Given the description of an element on the screen output the (x, y) to click on. 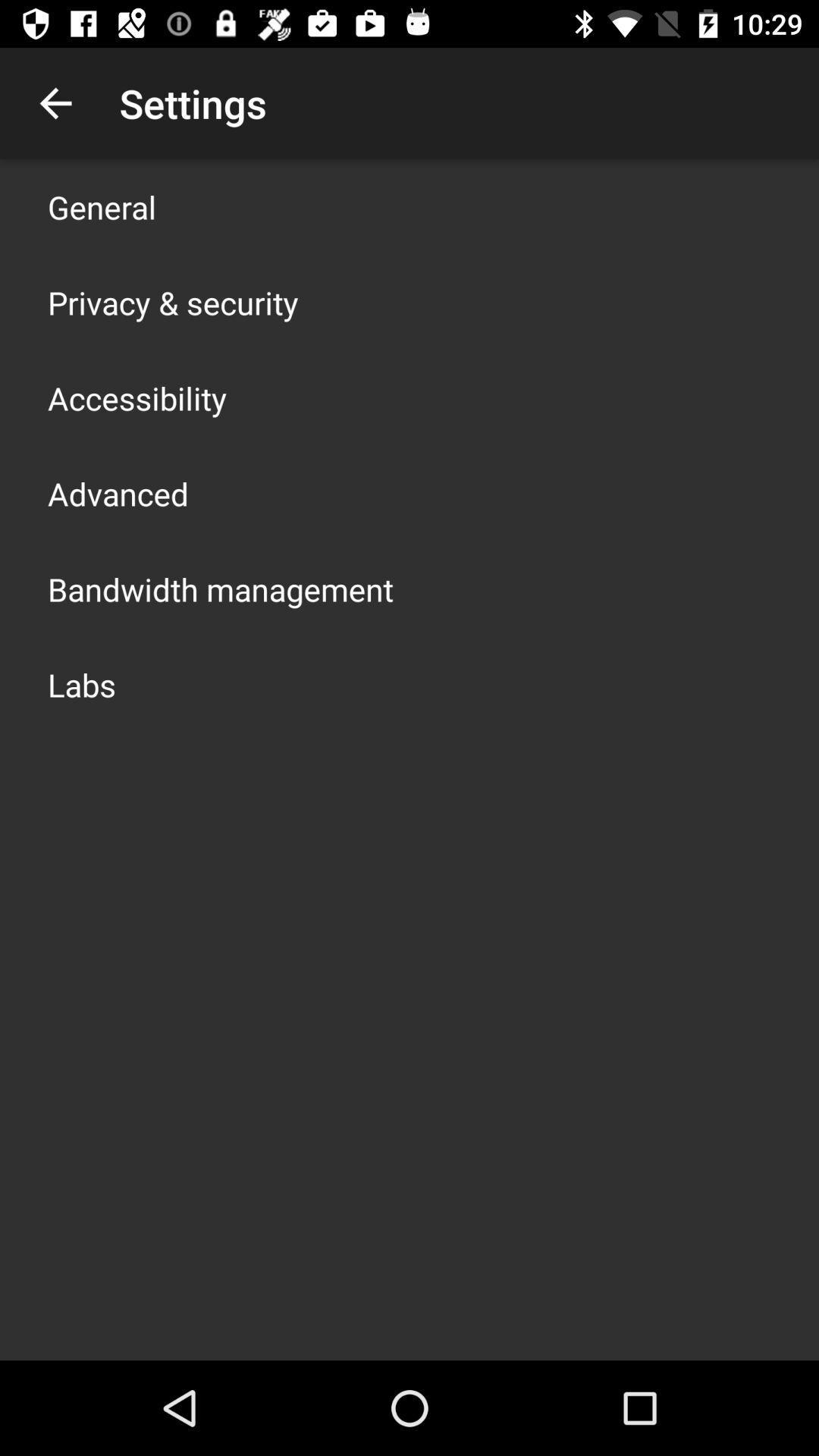
click icon below the accessibility (117, 493)
